Given the description of an element on the screen output the (x, y) to click on. 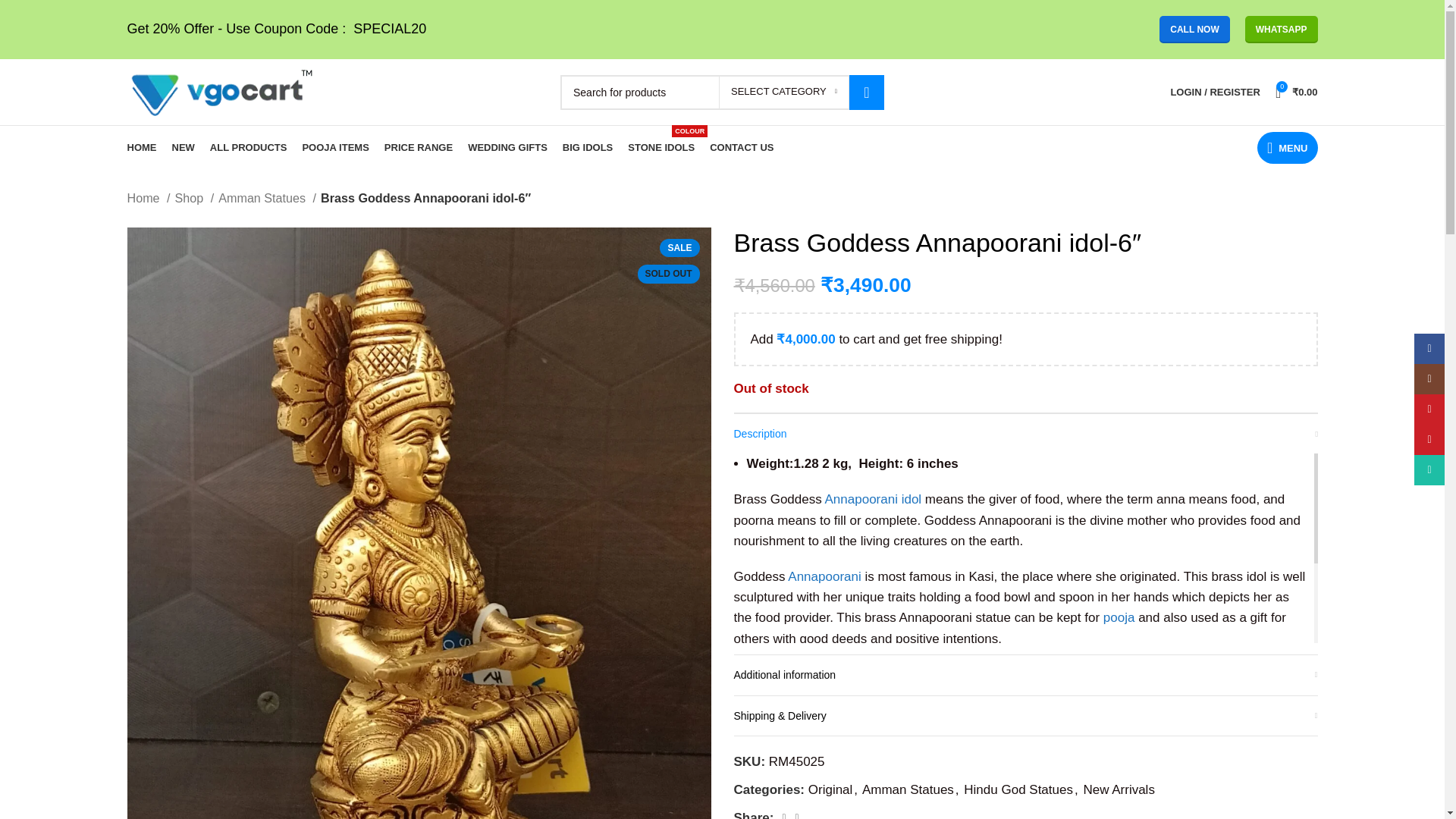
WHATSAPP (1280, 29)
My account (1213, 91)
Shopping cart (1296, 91)
CALL NOW (1193, 29)
SELECT CATEGORY (783, 91)
Search for products (721, 91)
SELECT CATEGORY (783, 91)
